Given the description of an element on the screen output the (x, y) to click on. 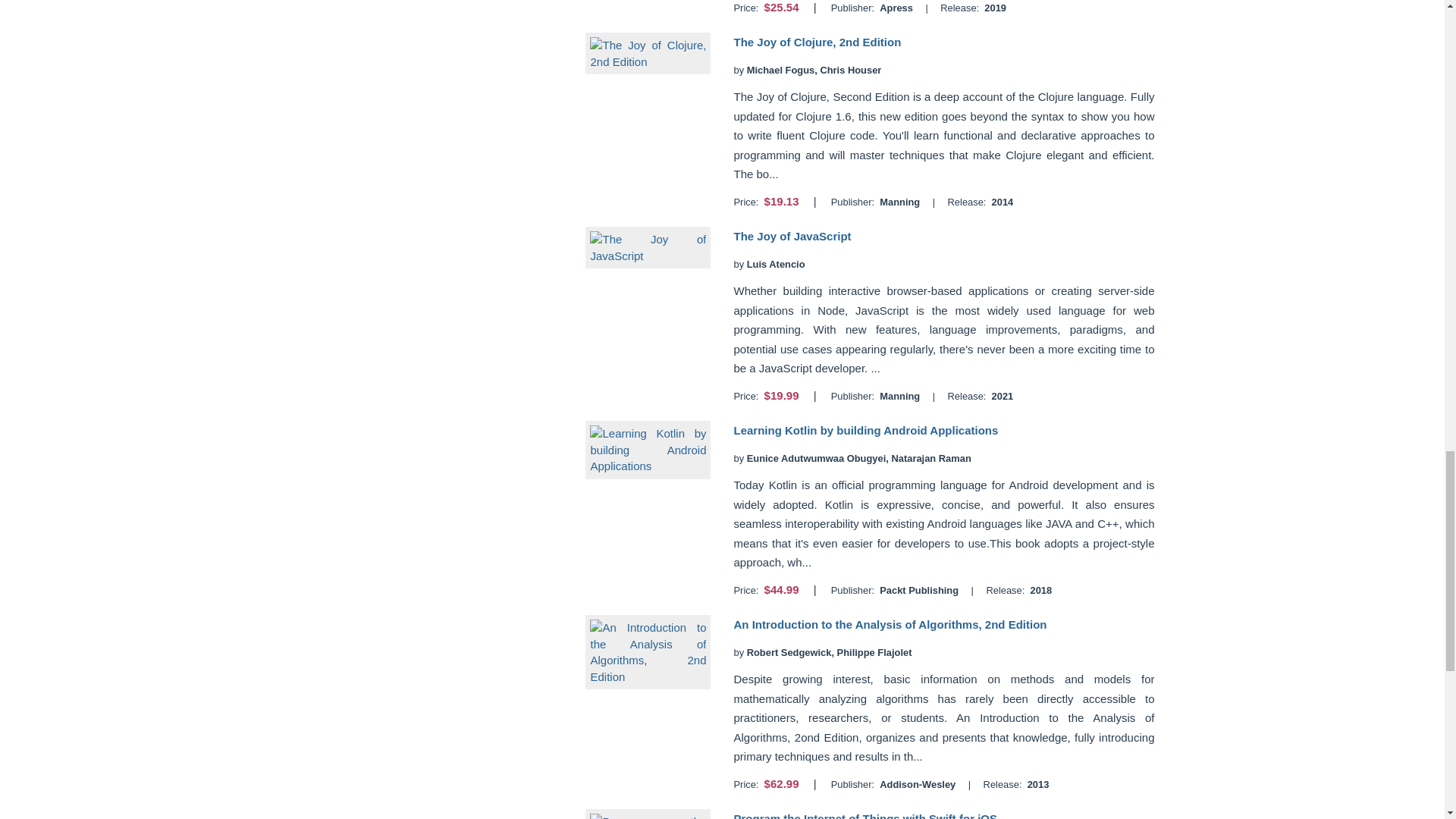
The Joy of Clojure, 2nd Edition (817, 42)
